Given the description of an element on the screen output the (x, y) to click on. 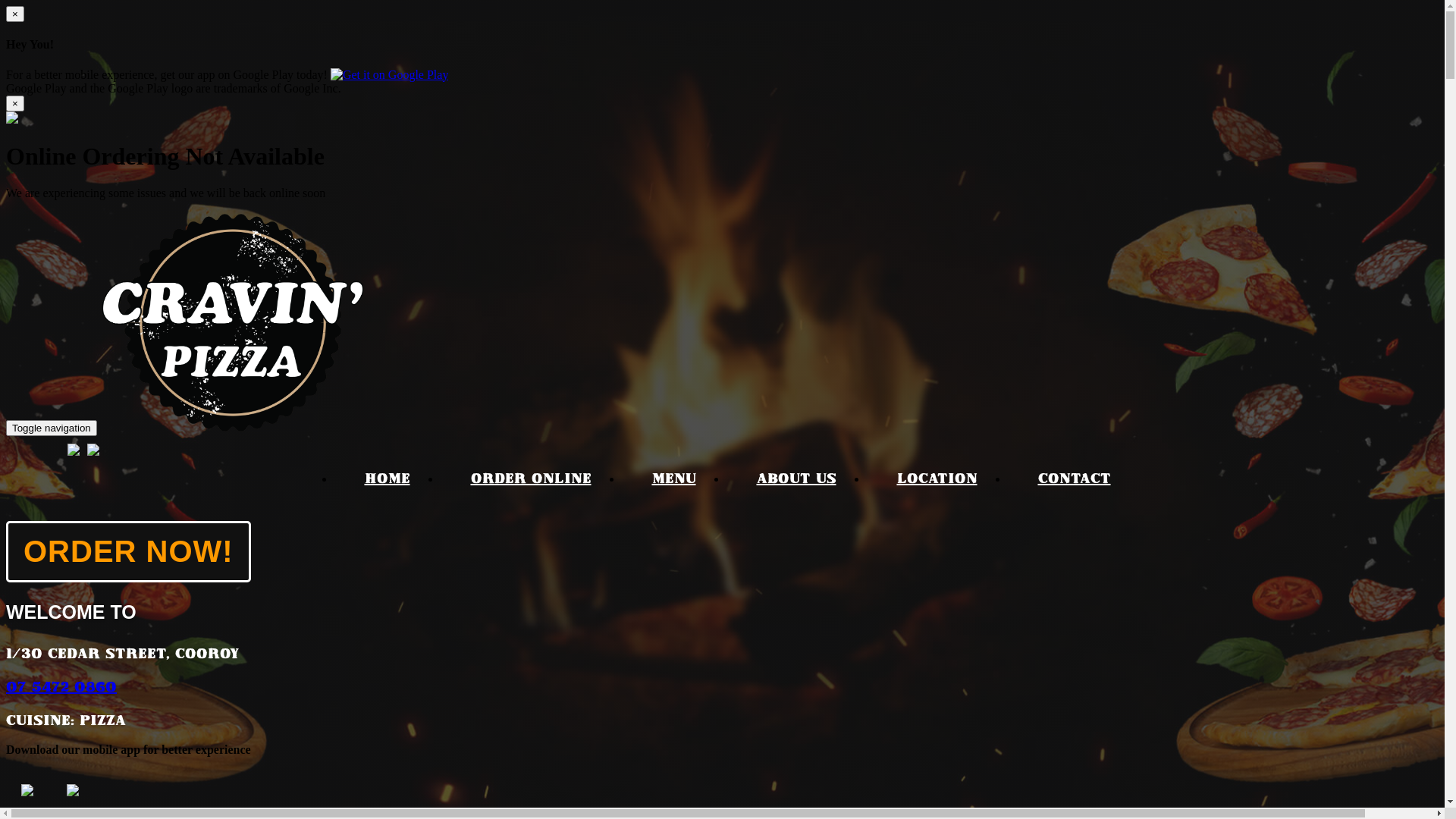
CONTACT Element type: text (1073, 479)
ABOUT US Element type: text (796, 479)
ORDER NOW! Element type: text (128, 557)
MENU Element type: text (674, 479)
Toggle navigation Element type: text (51, 428)
HOME Element type: text (386, 479)
ORDER ONLINE Element type: text (530, 479)
07 5472 0860 Element type: text (61, 684)
LOCATION Element type: text (936, 479)
ORDER NOW! Element type: text (128, 551)
